Given the description of an element on the screen output the (x, y) to click on. 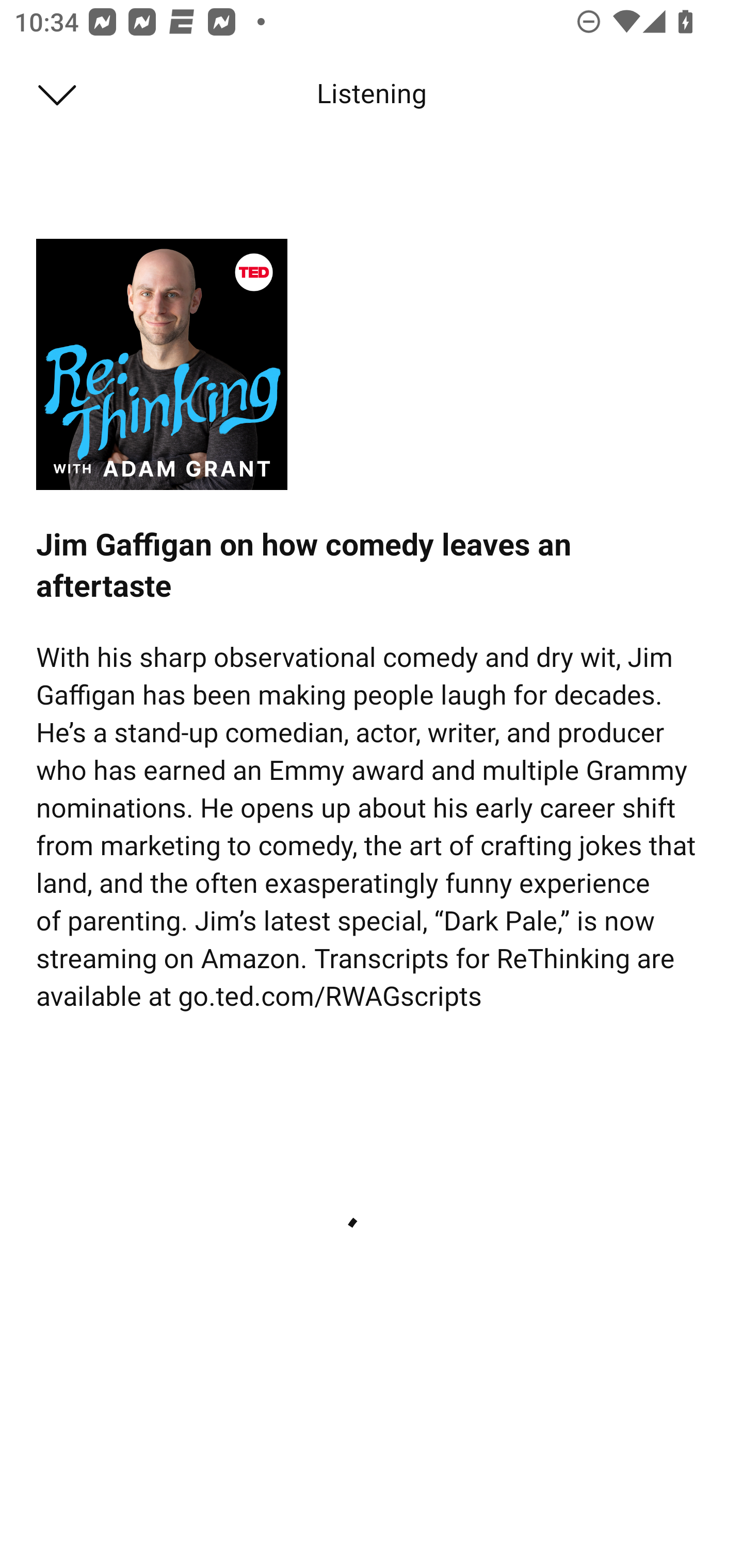
Listening (371, 93)
TED Podcasts, back (47, 92)
